Given the description of an element on the screen output the (x, y) to click on. 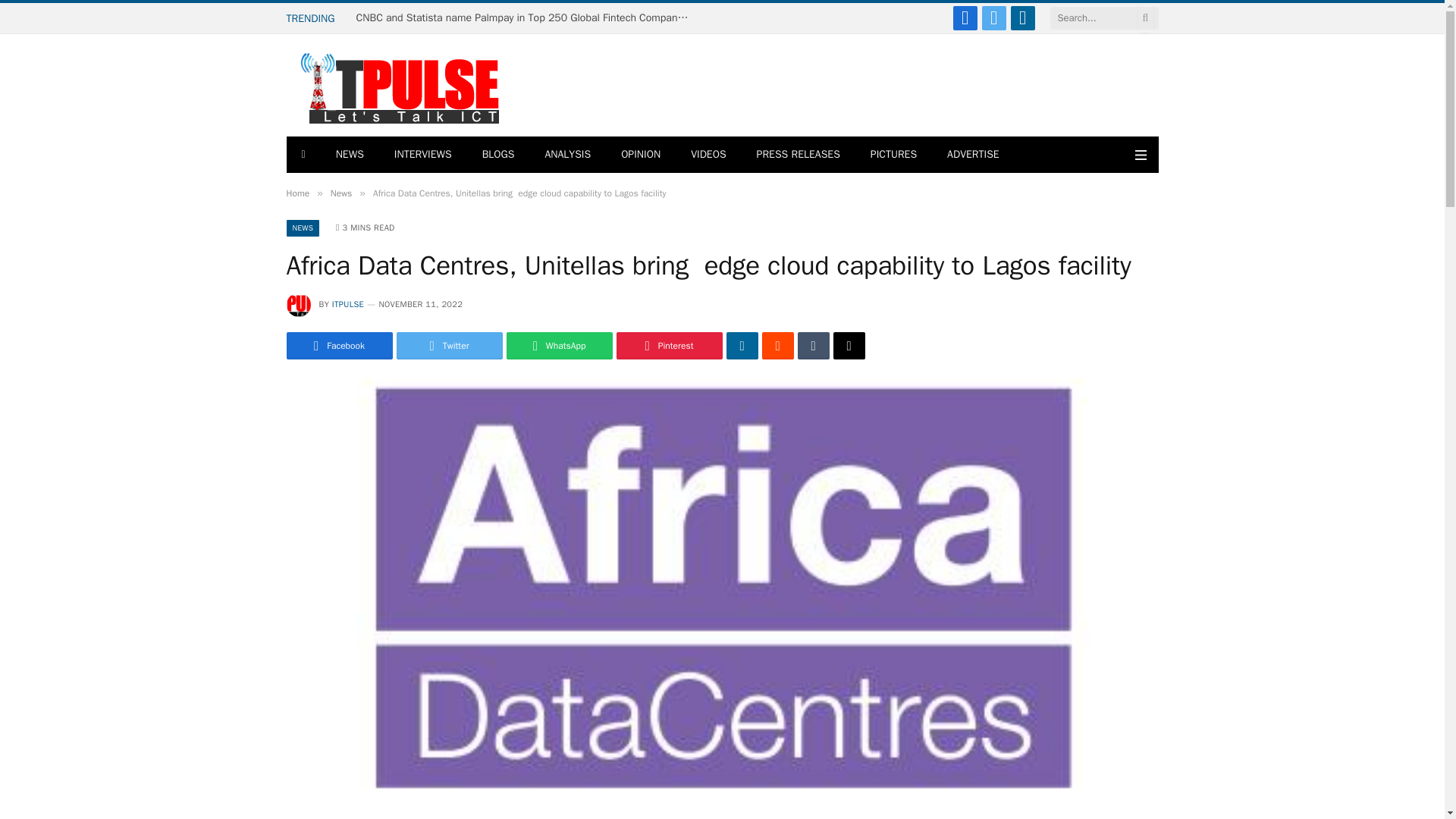
Posts by ITPulse (347, 303)
LinkedIn (1021, 17)
Twitter (993, 17)
INTERVIEWS (422, 154)
BLOGS (498, 154)
Facebook (964, 17)
Share via Email (848, 345)
PRESS RELEASES (798, 154)
Share on Facebook (339, 345)
Share on LinkedIn (742, 345)
Share on Pinterest (668, 345)
ADVERTISE (972, 154)
OPINION (640, 154)
